Given the description of an element on the screen output the (x, y) to click on. 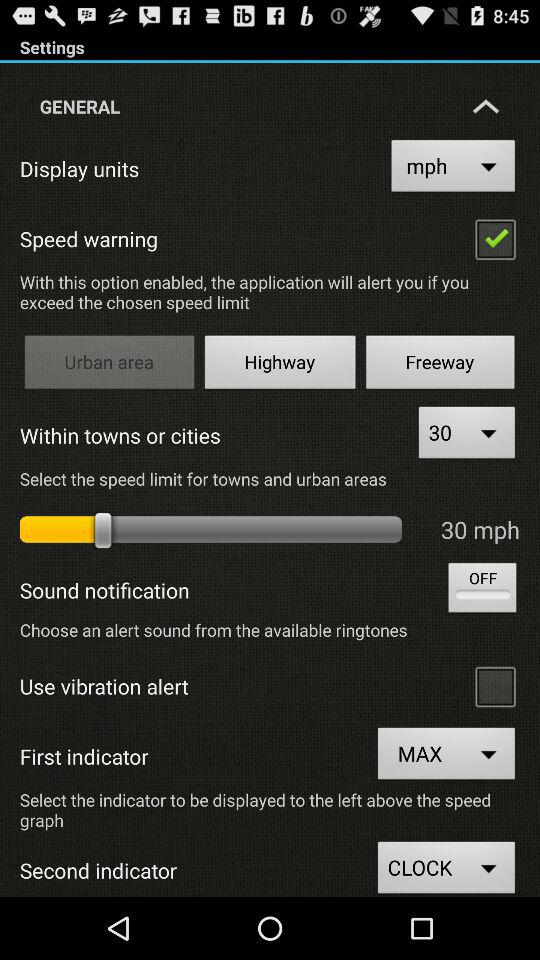
toggle speed warning option (495, 238)
